Given the description of an element on the screen output the (x, y) to click on. 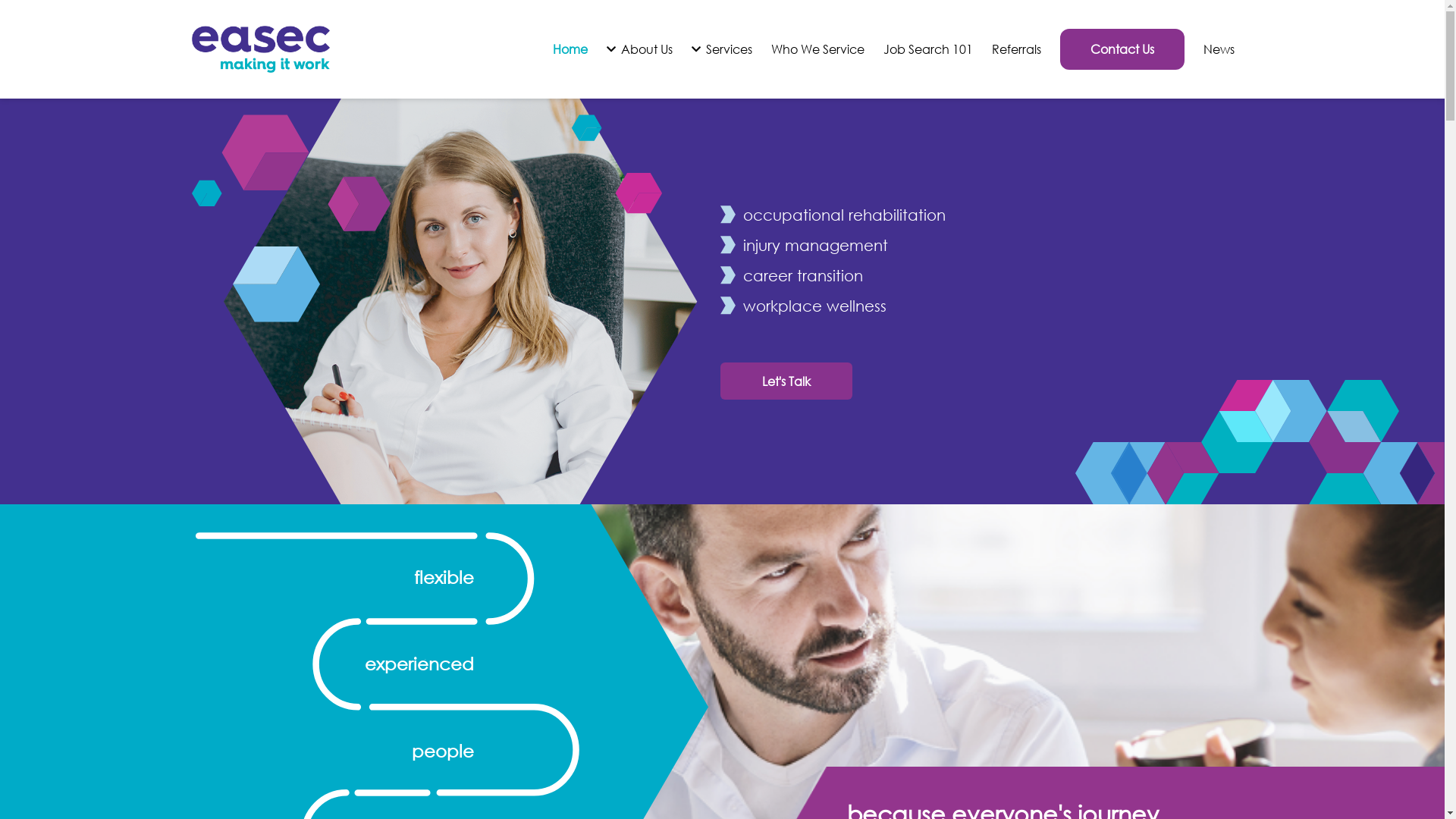
Let's Talk Element type: text (786, 380)
Services Element type: text (721, 49)
News Element type: text (1217, 49)
Referrals Element type: text (1016, 49)
Contact Us Element type: text (1122, 49)
Home Element type: text (569, 49)
Job Search 101 Element type: text (927, 49)
About Us Element type: text (639, 49)
Who We Service Element type: text (816, 49)
